Given the description of an element on the screen output the (x, y) to click on. 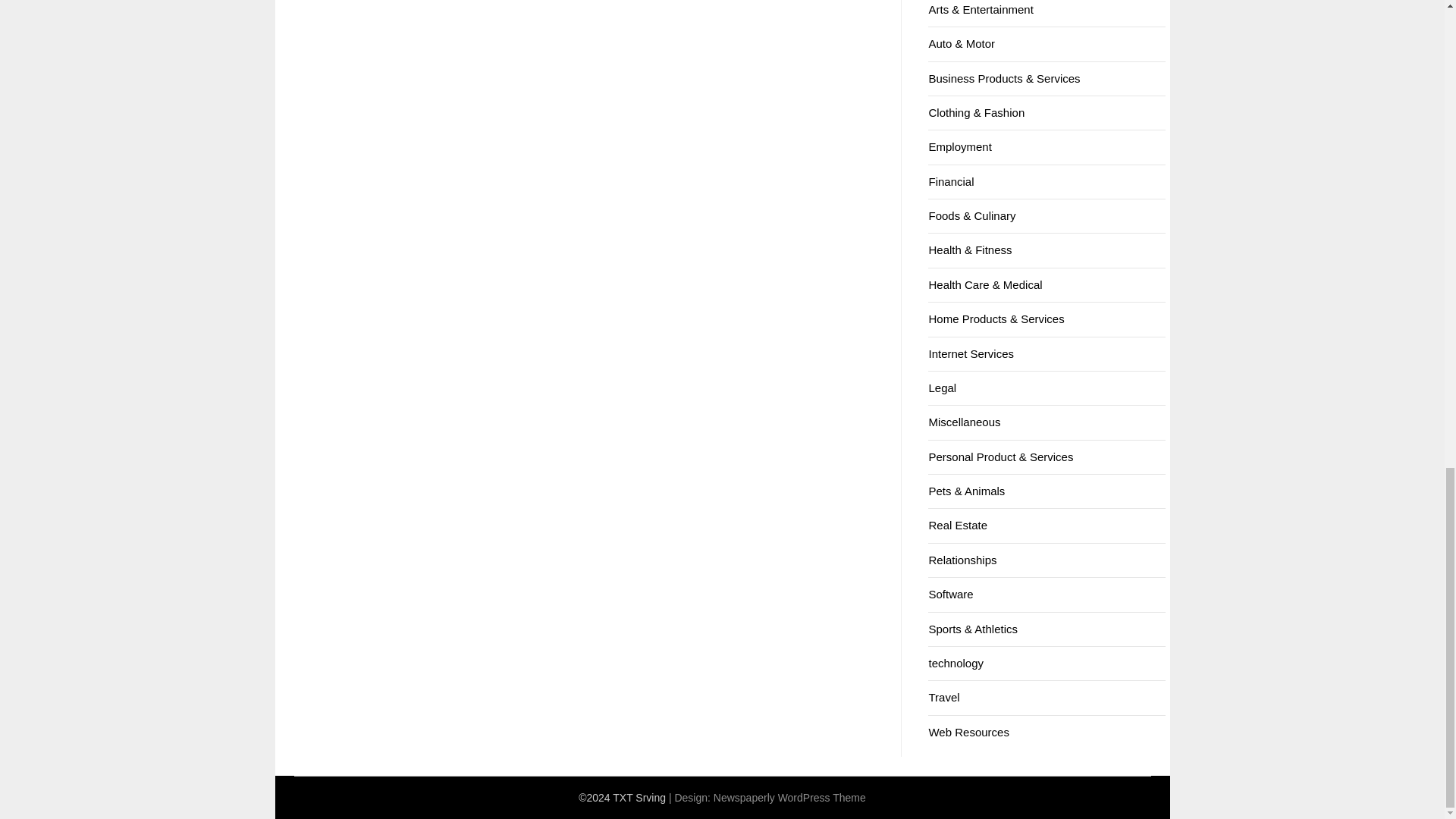
Internet Services (970, 352)
Legal (942, 387)
Employment (959, 146)
Miscellaneous (964, 421)
Financial (951, 181)
